Given the description of an element on the screen output the (x, y) to click on. 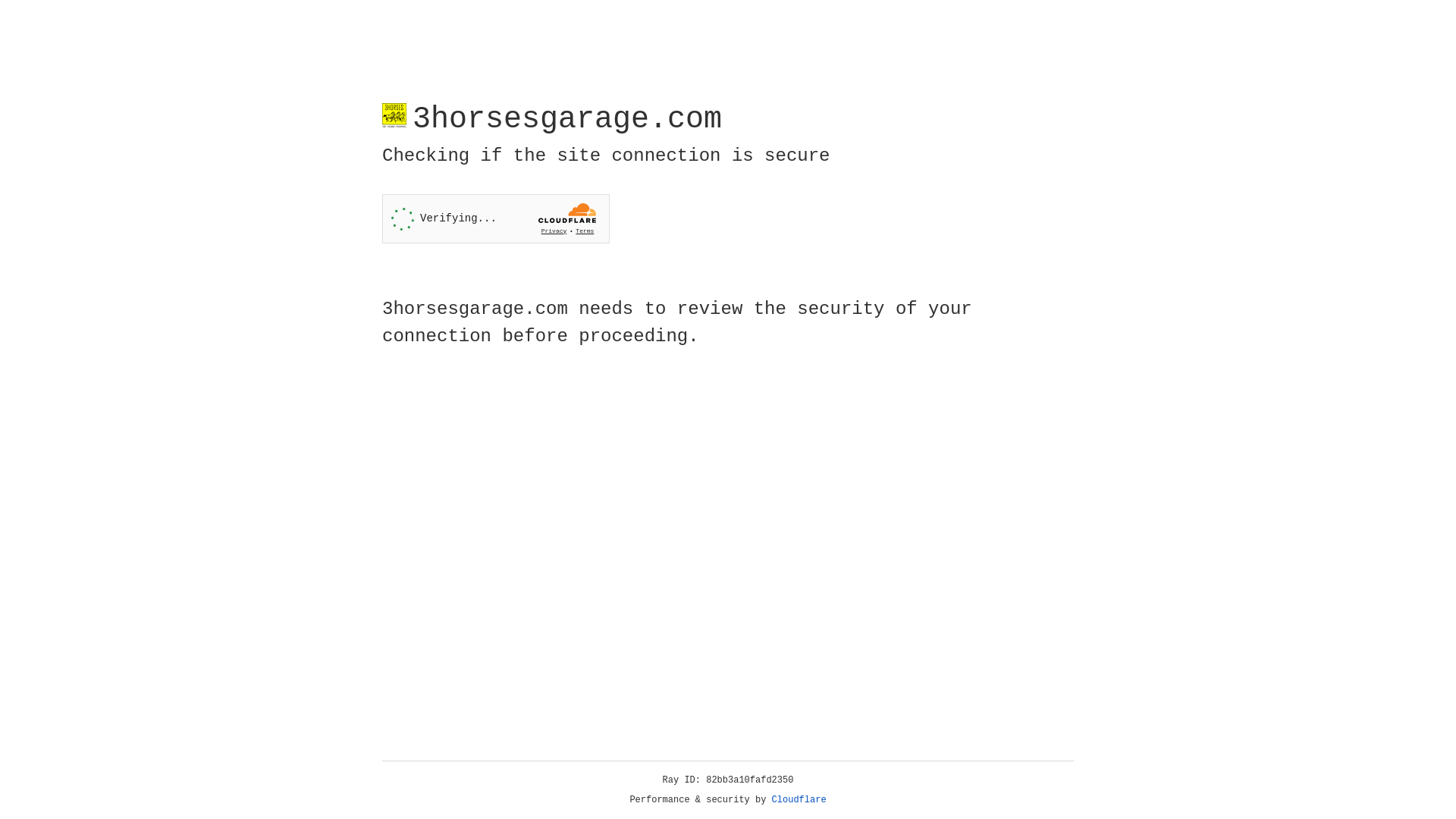
Cloudflare Element type: text (798, 799)
Widget containing a Cloudflare security challenge Element type: hover (495, 218)
